Given the description of an element on the screen output the (x, y) to click on. 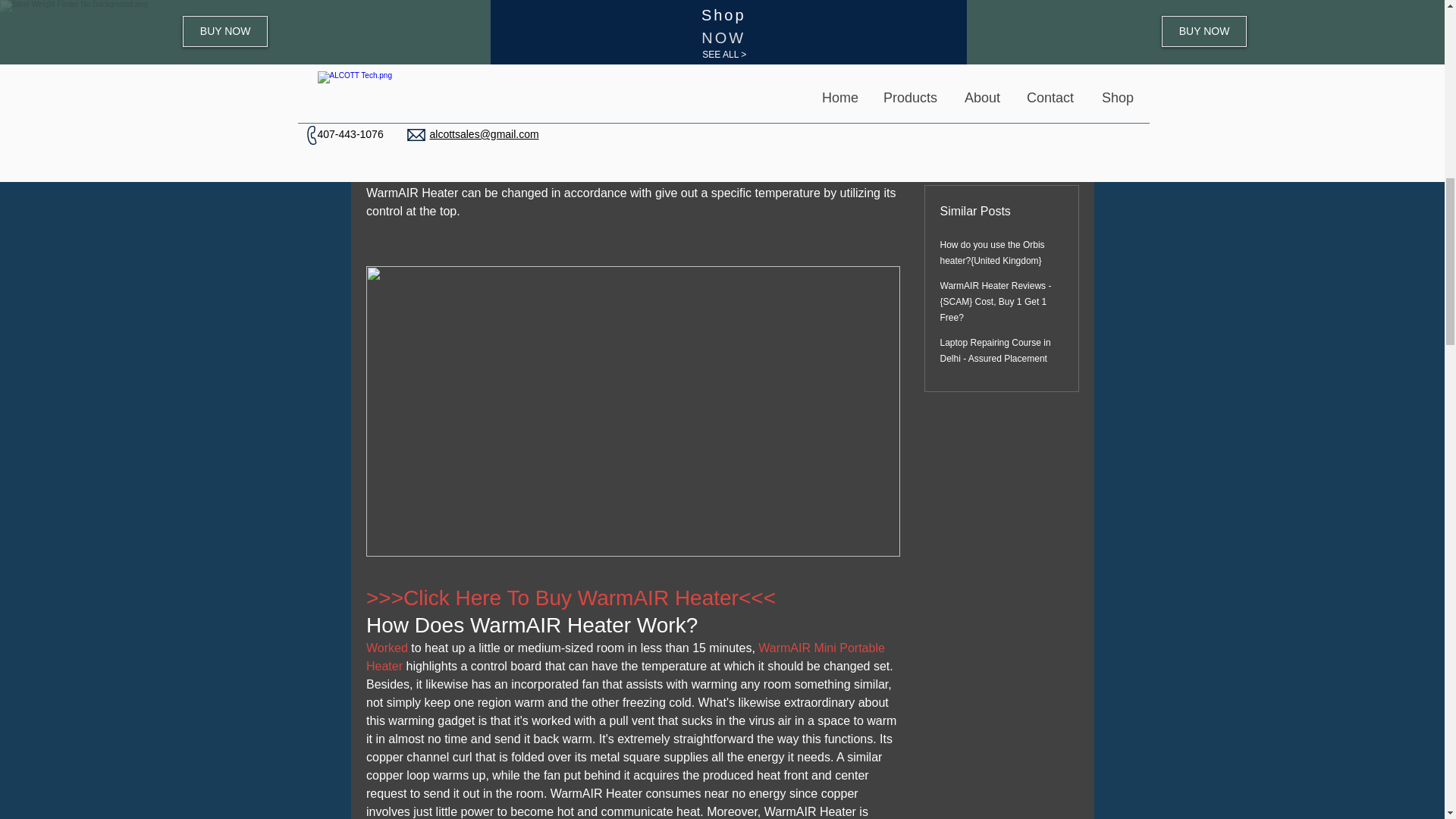
Worked  (387, 647)
WarmAIR Mini Portable Heater (625, 656)
WarmAIR Heater (411, 101)
